Given the description of an element on the screen output the (x, y) to click on. 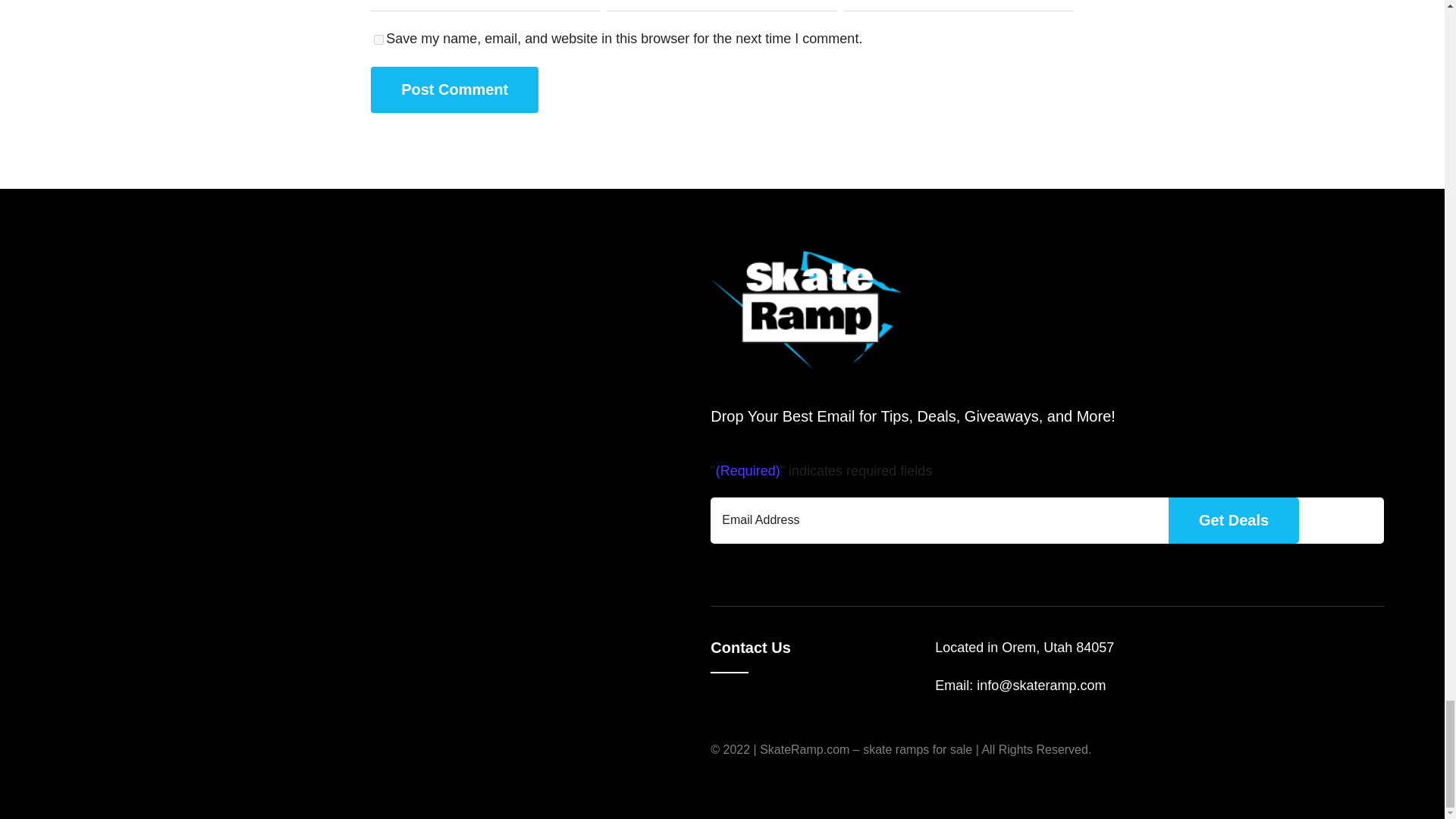
Post Comment (454, 89)
skateramp logo (805, 309)
Get Deals (1233, 520)
yes (379, 40)
